Given the description of an element on the screen output the (x, y) to click on. 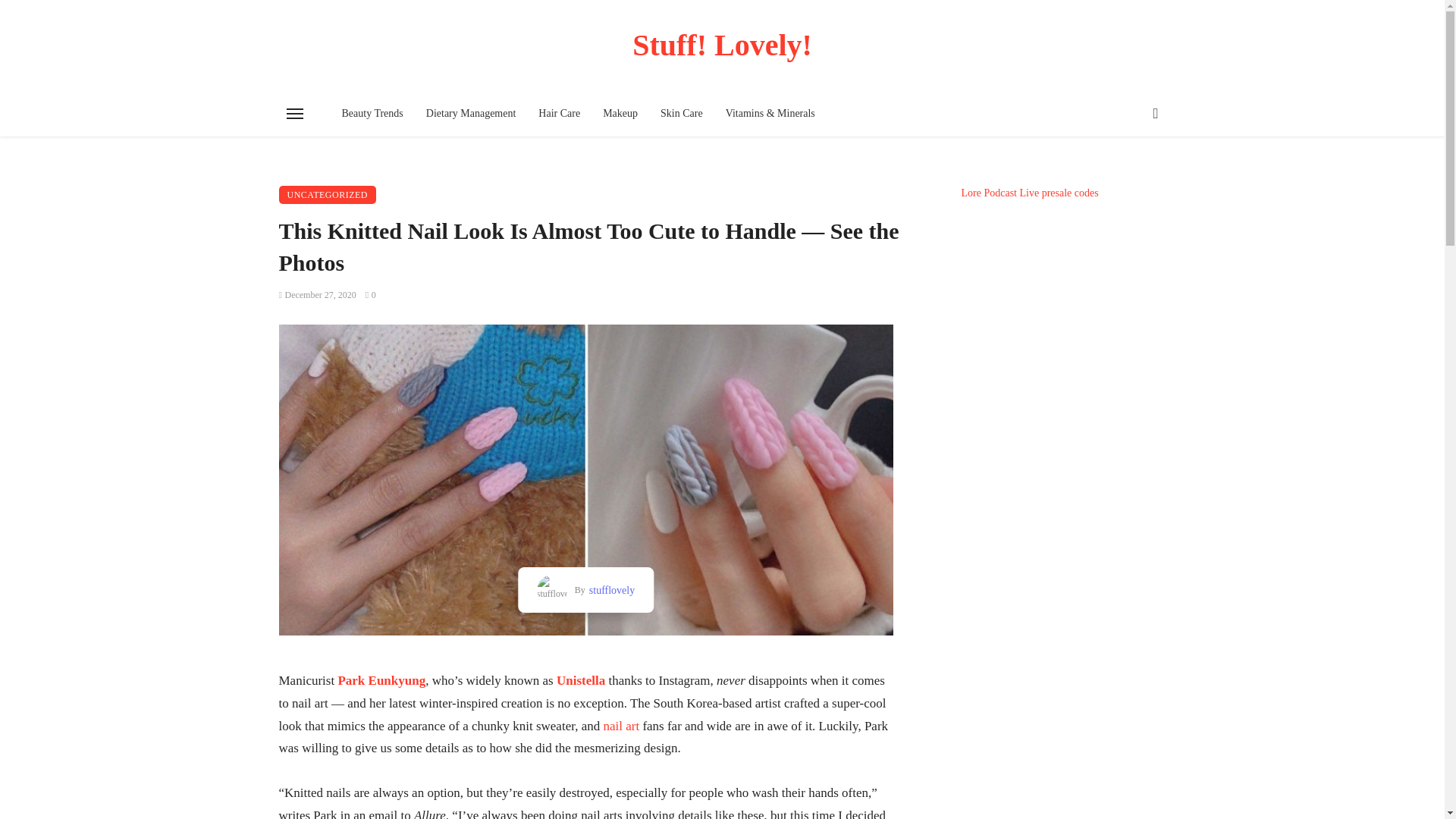
nail art (620, 726)
UNCATEGORIZED (328, 194)
Stuff! Lovely! (722, 45)
Posts by stufflovely (609, 590)
stufflovely (609, 590)
Unistella (580, 680)
Makeup (620, 113)
0 (370, 294)
0 Comments (370, 294)
Hair Care (559, 113)
Skin Care (681, 113)
December 27, 2020 at 10:09 pm (317, 294)
Beauty Trends (372, 113)
Park Eunkyung (381, 680)
Dietary Management (470, 113)
